Given the description of an element on the screen output the (x, y) to click on. 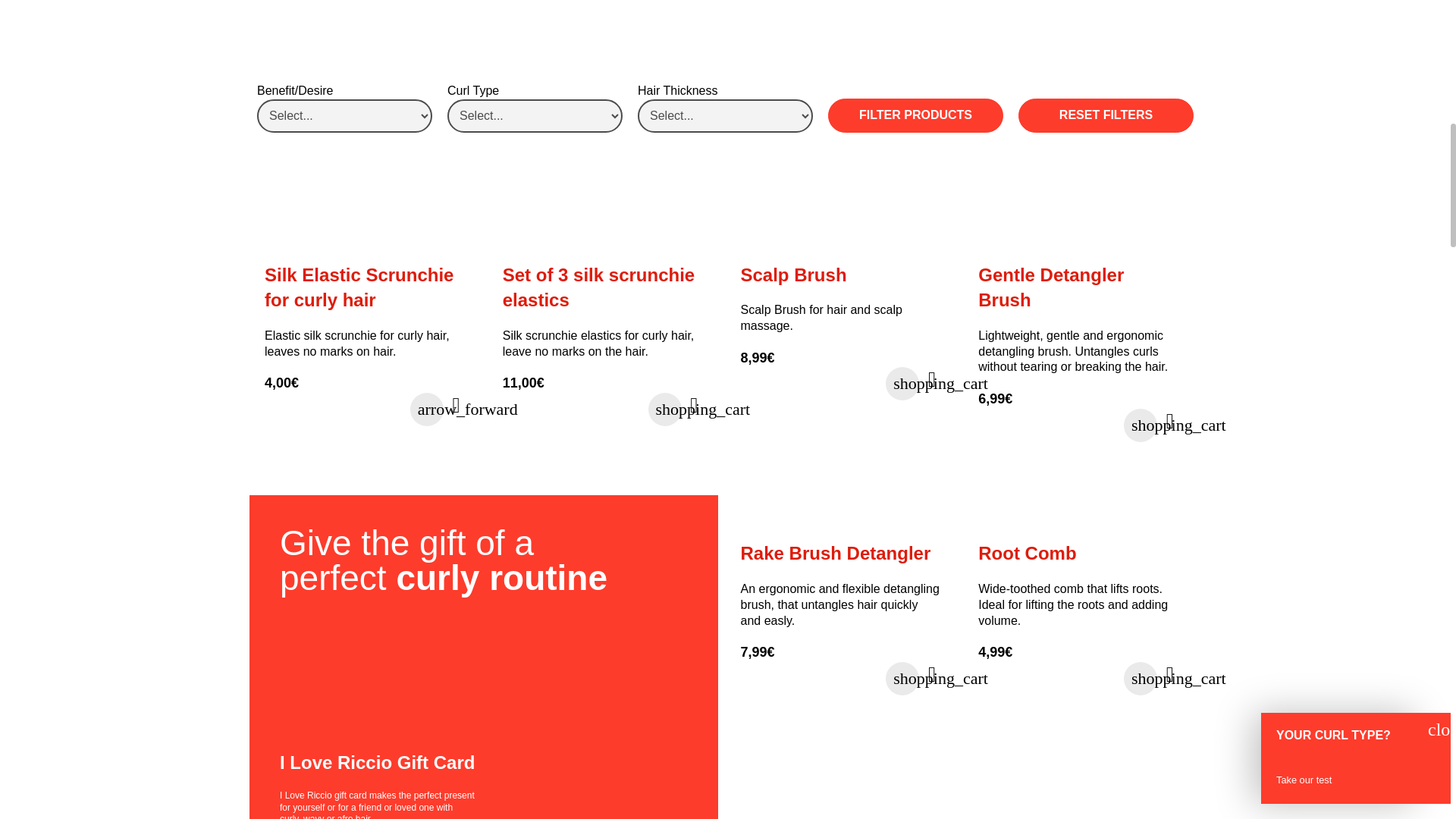
0 (1028, 424)
0 (552, 408)
Set of 3 silk scrunchie elastics (602, 238)
Root Comb (1077, 518)
Gentle Detangler Brush (1077, 238)
0 (314, 408)
Scalp Brush (839, 238)
Silk Elastic Scrunchie for curly hair (364, 238)
0 (789, 678)
Rake Brush Detangler (839, 518)
